Given the description of an element on the screen output the (x, y) to click on. 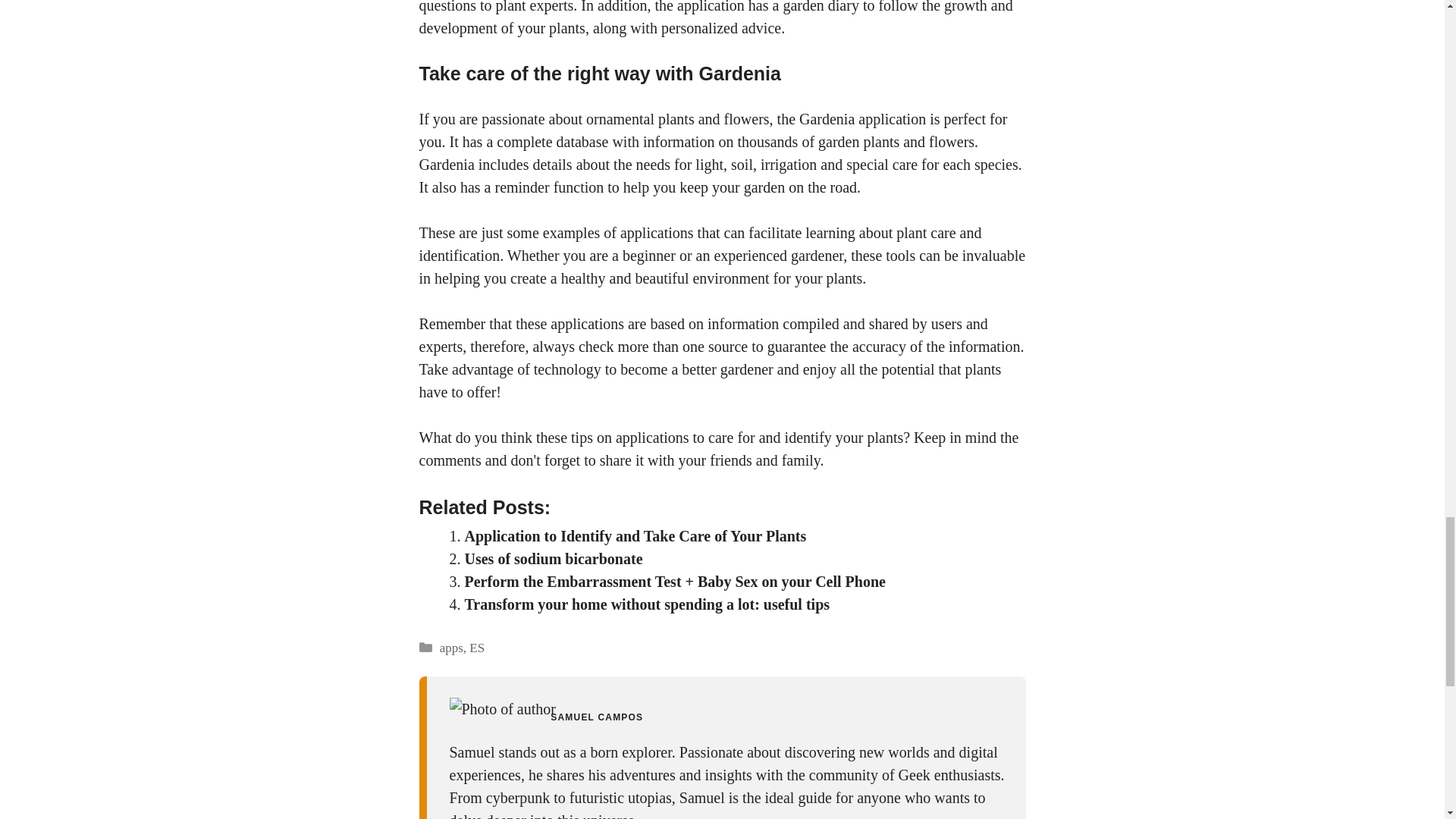
Application to Identify and Take Care of Your Plants (635, 535)
apps (451, 647)
ES (476, 647)
Transform your home without spending a lot: useful tips (646, 604)
Uses of sodium bicarbonate (553, 558)
Application to Identify and Take Care of Your Plants (635, 535)
SAMUEL CAMPOS (596, 716)
Uses of sodium bicarbonate (553, 558)
Transform your home without spending a lot: useful tips (646, 604)
